Given the description of an element on the screen output the (x, y) to click on. 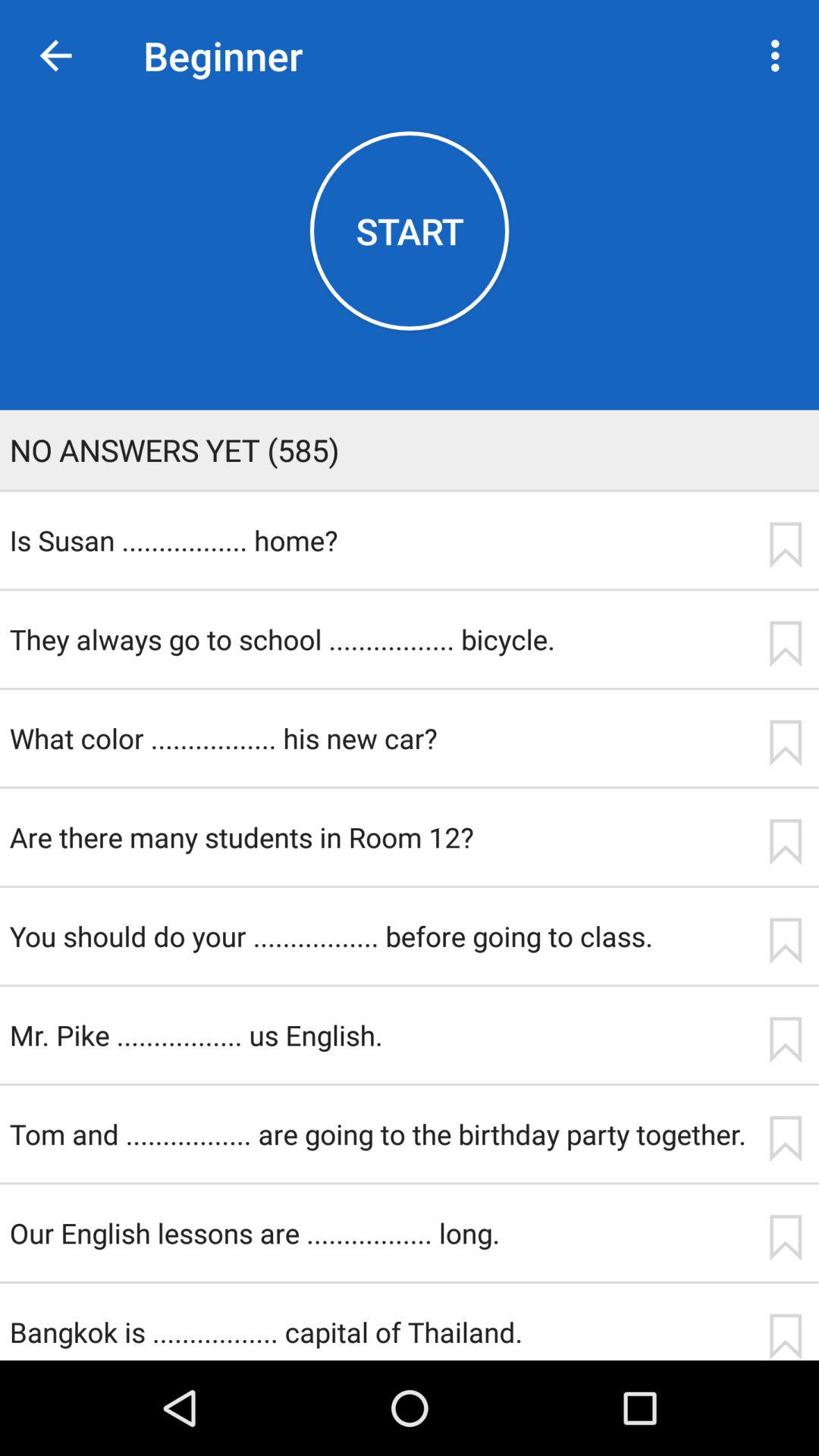
save (784, 841)
